Given the description of an element on the screen output the (x, y) to click on. 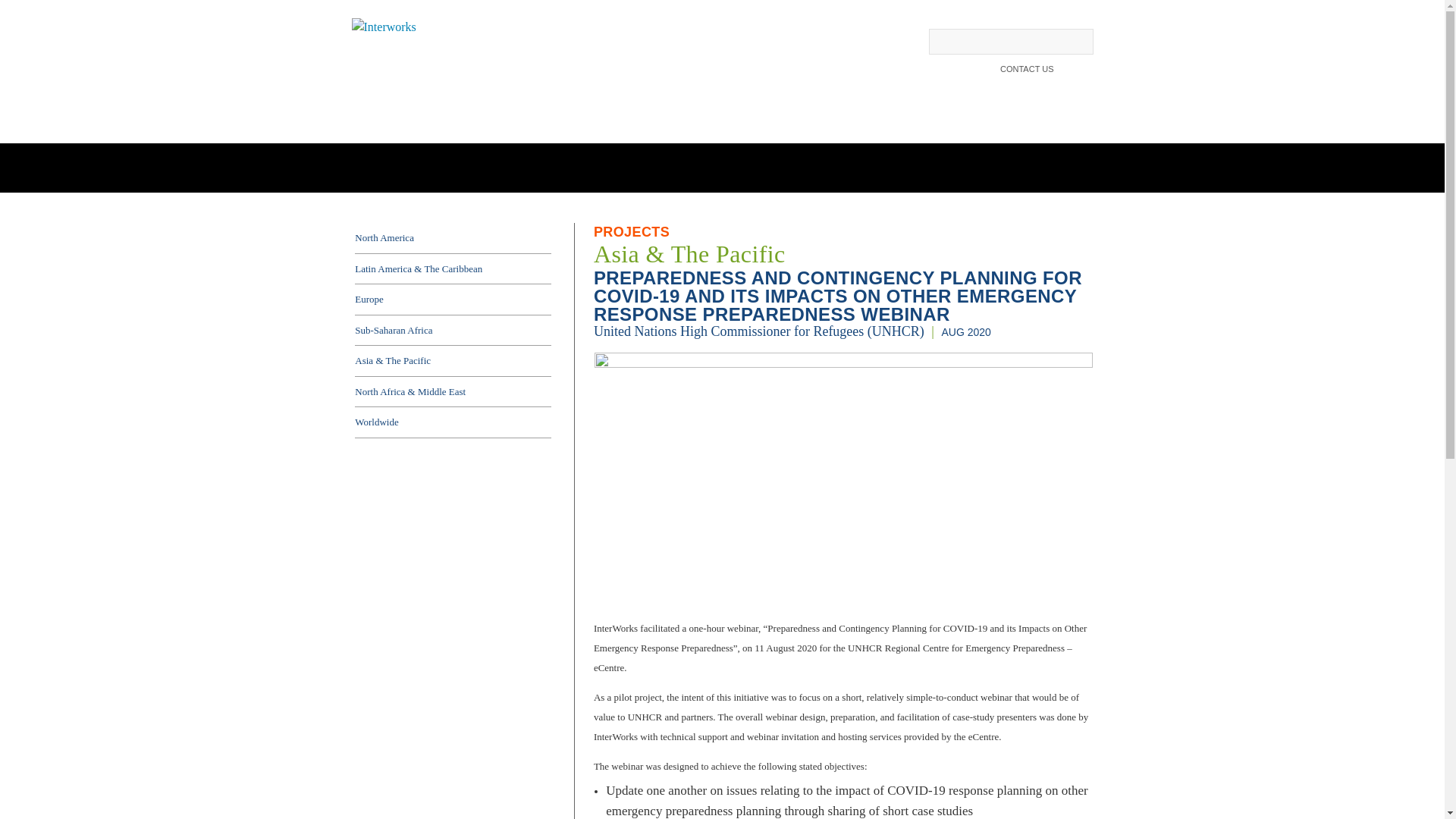
CONSULTING (502, 96)
PROJECTS (763, 96)
Twitter (1067, 72)
Facebook (1087, 72)
WHO WE ARE (402, 96)
CONTACT US (1027, 72)
